Given the description of an element on the screen output the (x, y) to click on. 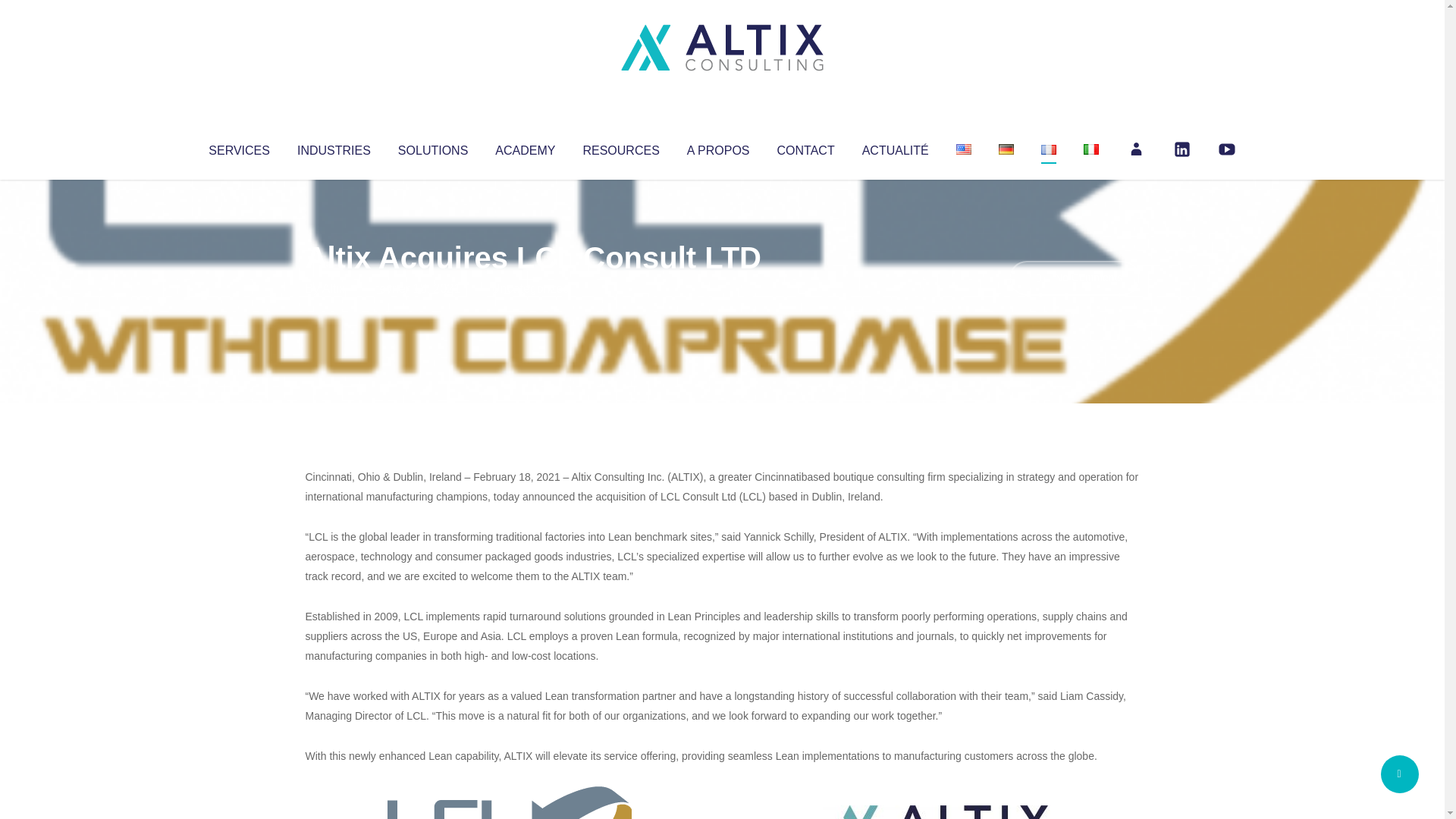
Altix (333, 287)
Articles par Altix (333, 287)
INDUSTRIES (334, 146)
RESOURCES (620, 146)
A PROPOS (718, 146)
No Comments (1073, 278)
Uncategorized (530, 287)
ACADEMY (524, 146)
SOLUTIONS (432, 146)
SERVICES (238, 146)
